Given the description of an element on the screen output the (x, y) to click on. 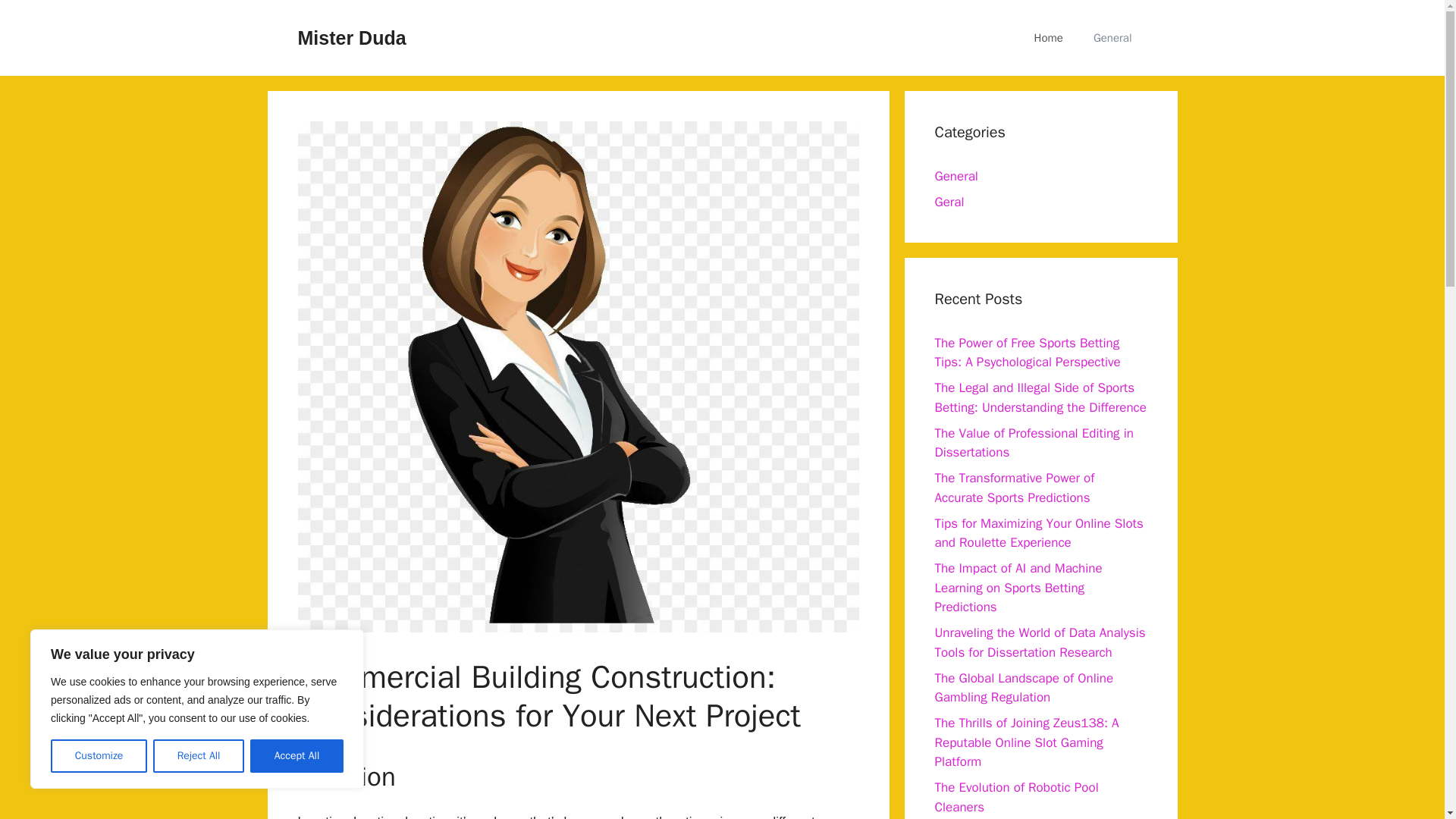
Geral (948, 201)
The Transformative Power of Accurate Sports Predictions (1014, 488)
The Value of Professional Editing in Dissertations (1033, 442)
Customize (98, 756)
Home (1048, 37)
Accept All (296, 756)
General (955, 176)
Reject All (198, 756)
General (1112, 37)
Mister Duda (351, 37)
